Given the description of an element on the screen output the (x, y) to click on. 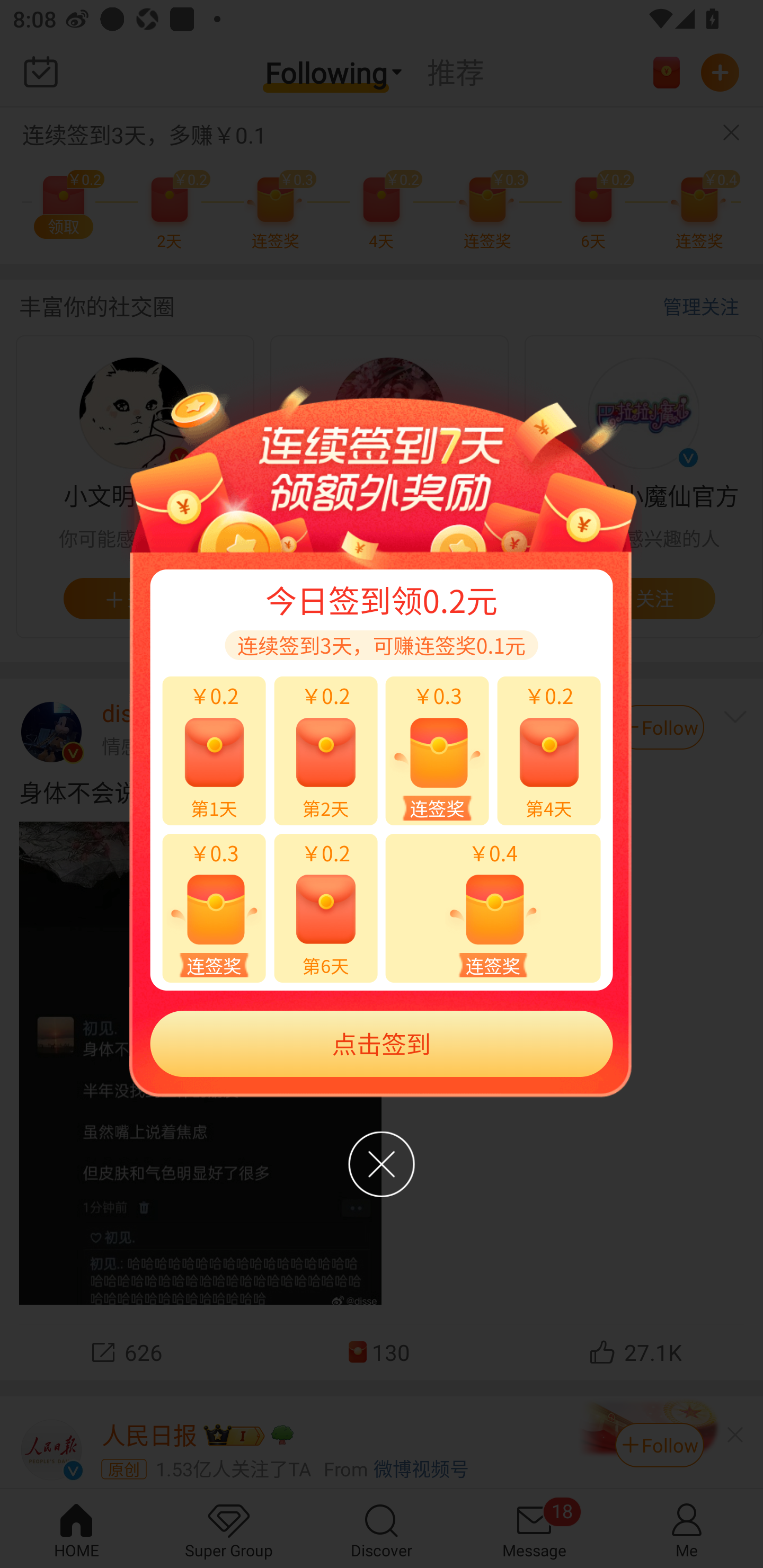
点击签到 (381, 1043)
